Given the description of an element on the screen output the (x, y) to click on. 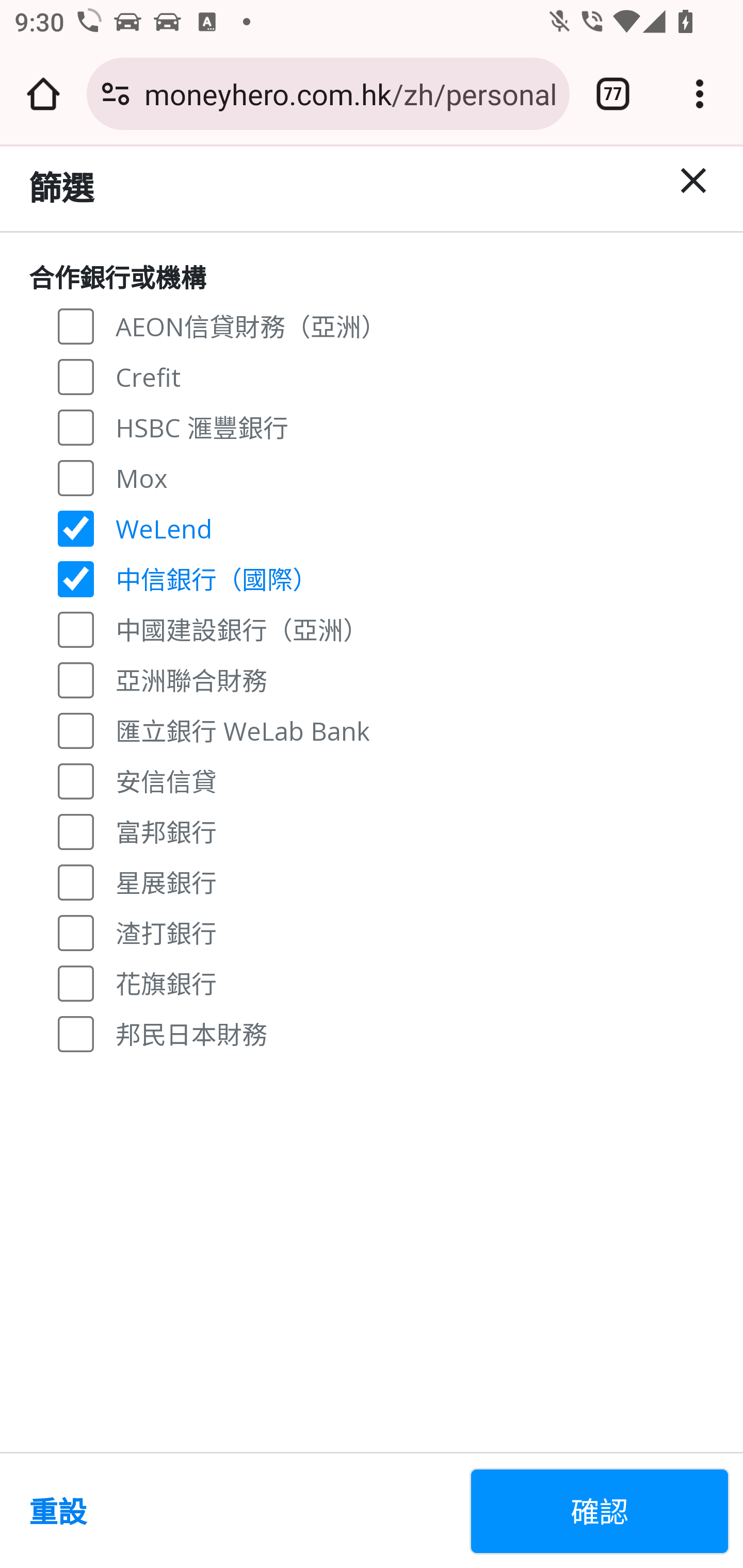
Open the home page (43, 93)
Connection is secure (115, 93)
Switch or close tabs (612, 93)
Customize and control Google Chrome (699, 93)
AEON信貸財務（亞洲） (76, 325)
Crefit (76, 376)
HSBC 滙豐銀行 (76, 426)
Mox (76, 476)
WeLend (76, 528)
中信銀行（國際） (76, 578)
中國建設銀行（亞洲） (76, 628)
亞洲聯合財務 (76, 678)
匯立銀行 WeLab Bank (76, 730)
安信信貸 (76, 780)
富邦銀行 (76, 830)
星展銀行 (76, 881)
渣打銀行 (76, 932)
花旗銀行 (76, 982)
邦民日本財務 (76, 1033)
重設 (241, 1511)
確認 (600, 1511)
